Given the description of an element on the screen output the (x, y) to click on. 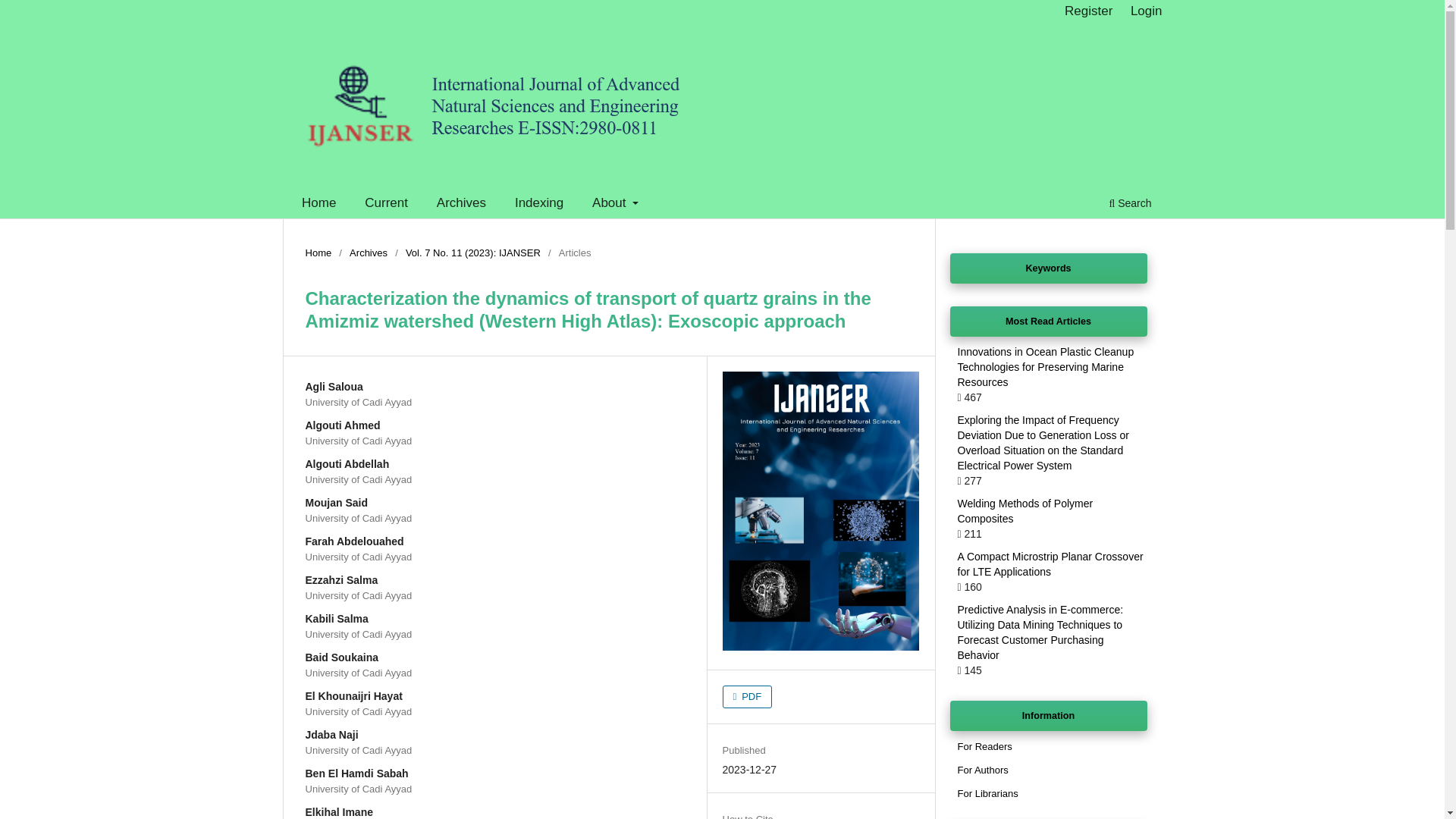
About (615, 204)
Indexing (538, 204)
Login (1146, 11)
Home (317, 253)
Register (1088, 11)
Home (318, 204)
Archives (460, 204)
Current (386, 204)
Archives (368, 253)
PDF (747, 696)
Search (1129, 204)
